Given the description of an element on the screen output the (x, y) to click on. 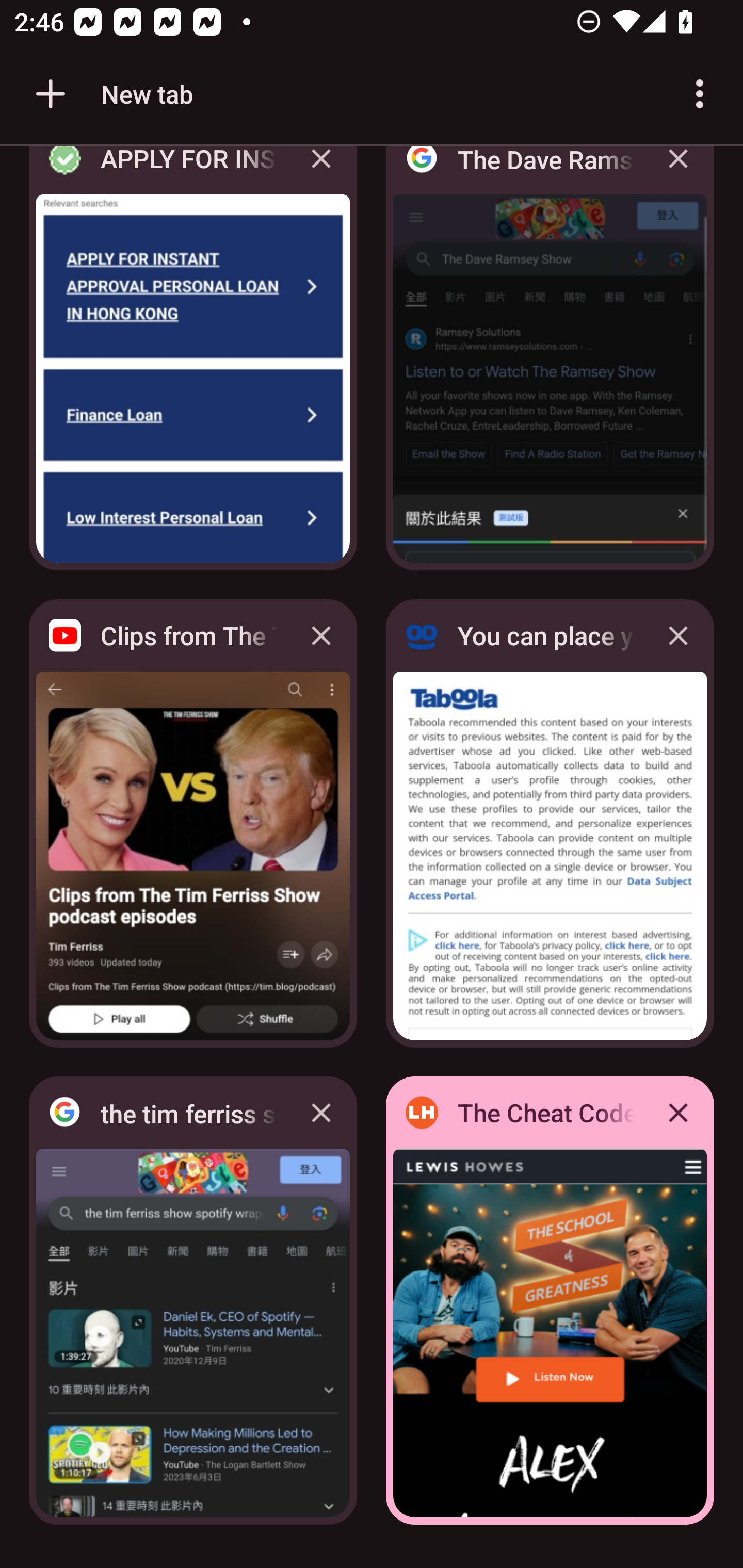
New tab (111, 93)
Customize and control Google Chrome (699, 93)
Close The Dave Ramsey Show - Google 搜尋 tab (677, 173)
